Given the description of an element on the screen output the (x, y) to click on. 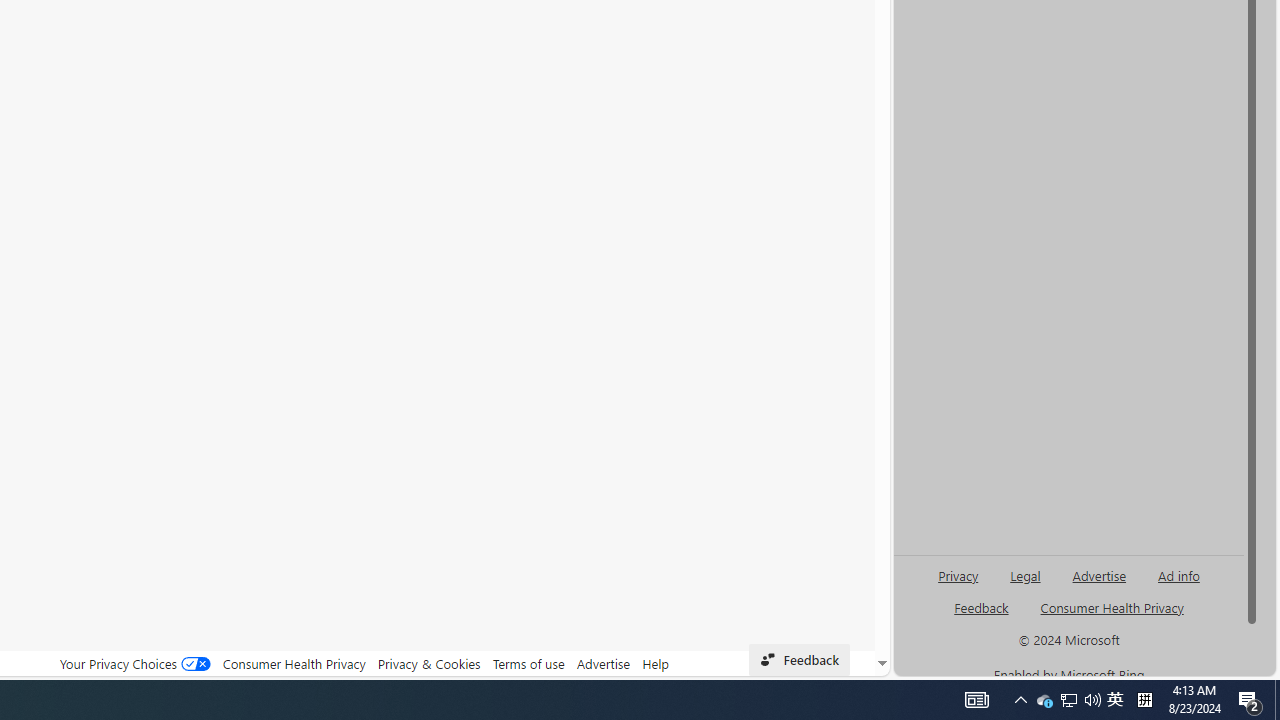
AutomationID: genId96 (981, 615)
Terms of use (527, 663)
AutomationID: sb_feedback (980, 607)
Your Privacy Choices (134, 663)
Consumer Health Privacy (293, 663)
Privacy & Cookies (429, 663)
Help (655, 663)
